Given the description of an element on the screen output the (x, y) to click on. 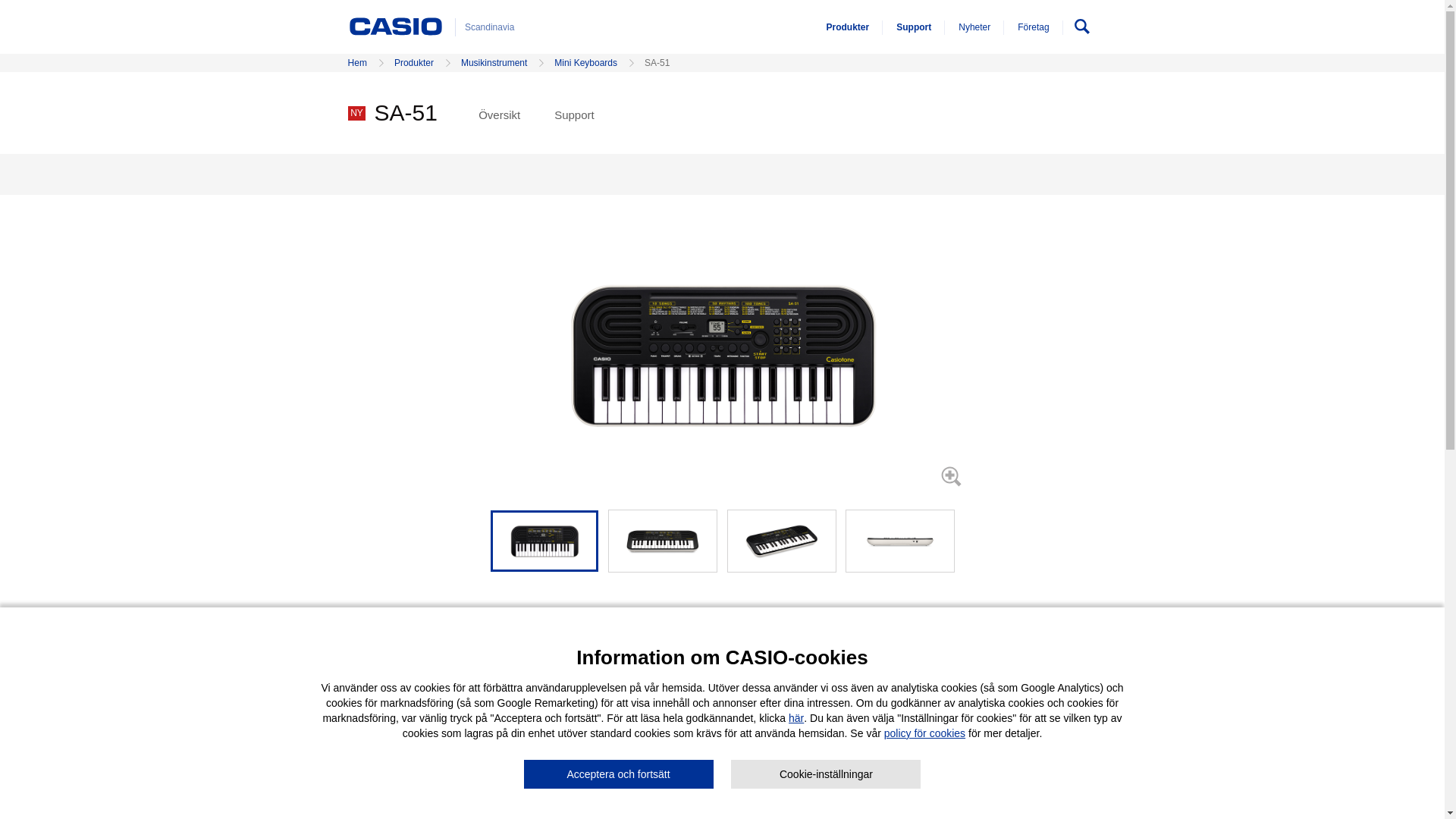
SA-51 (544, 540)
SA-51 (663, 540)
SA-51 (781, 540)
SA-51 (900, 540)
